Given the description of an element on the screen output the (x, y) to click on. 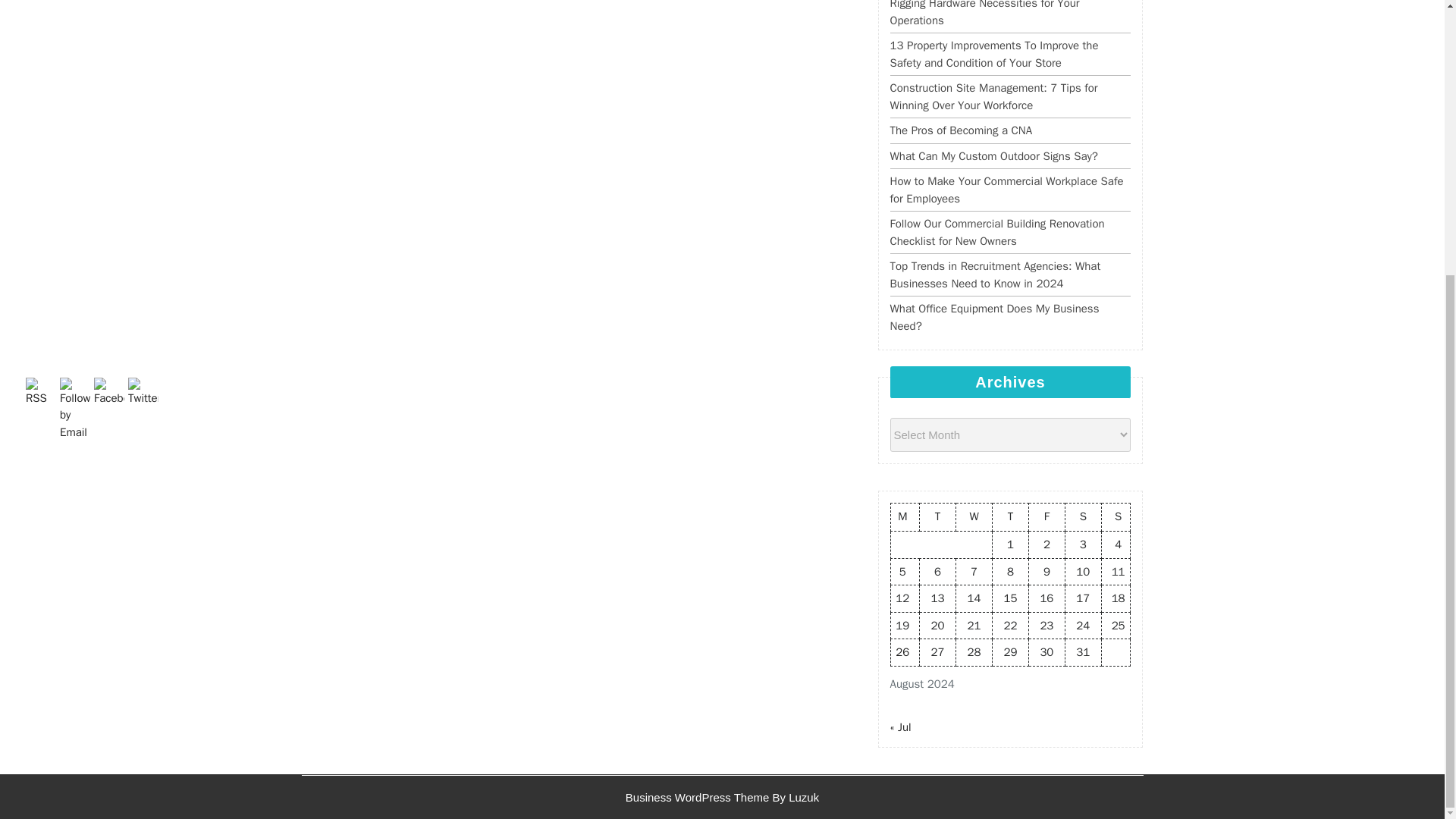
Business WordPress Theme By Luzuk (721, 797)
Monday (904, 517)
Sunday (1115, 517)
26 (901, 652)
What Office Equipment Does My Business Need? (994, 317)
Saturday (1082, 517)
Tuesday (938, 517)
